Given the description of an element on the screen output the (x, y) to click on. 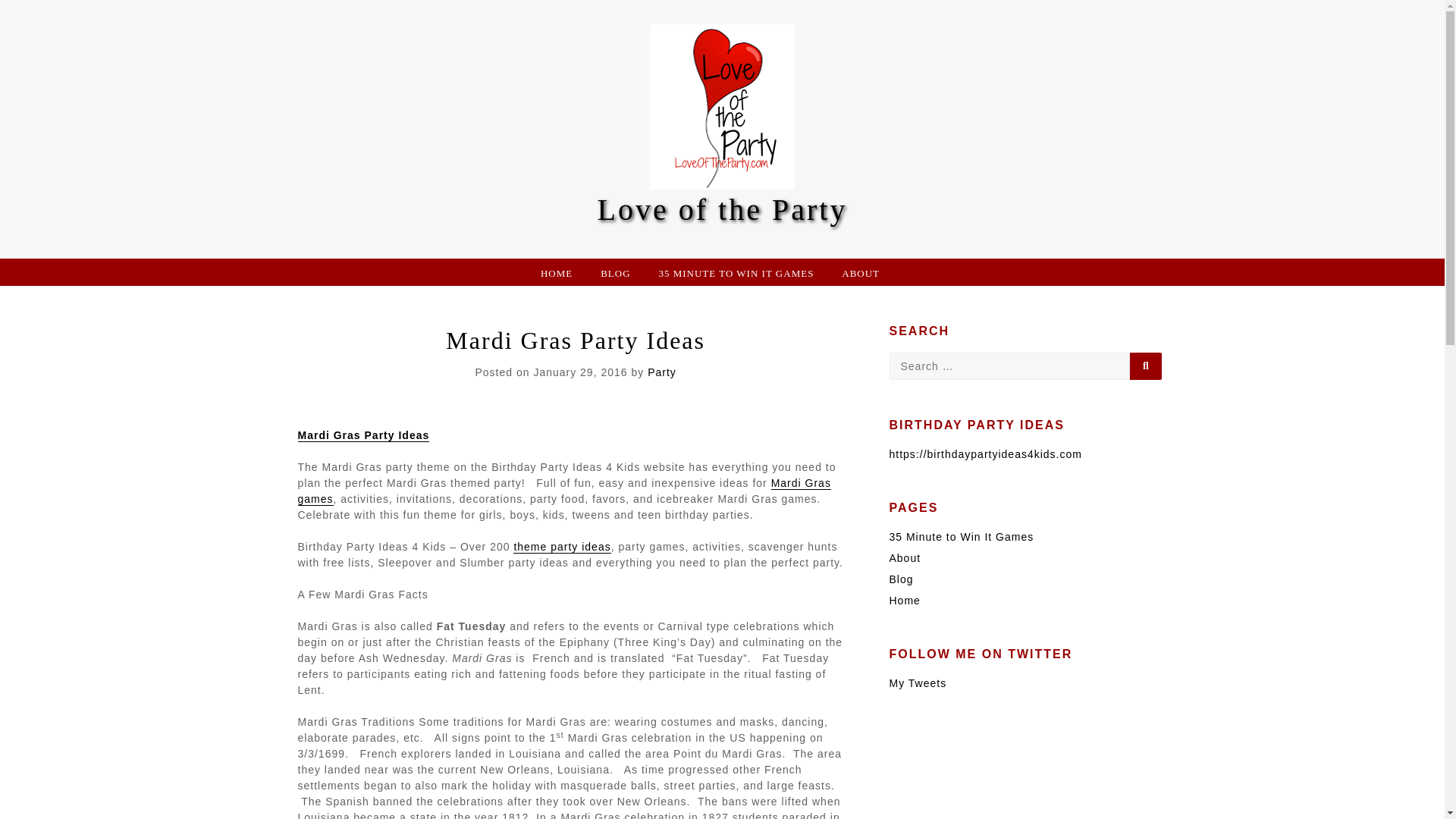
Party (662, 372)
BLOG (614, 271)
HOME (556, 271)
35 Minute to Win It Games (960, 536)
My Tweets (917, 682)
SEARCH (1145, 366)
theme party ideas (561, 546)
Mardi Gras Party Ideas (363, 435)
Mardi Gras games (563, 490)
ABOUT (860, 271)
Home (904, 600)
35 MINUTE TO WIN IT GAMES (735, 271)
Love of the Party (721, 209)
About (904, 558)
Blog (900, 579)
